Given the description of an element on the screen output the (x, y) to click on. 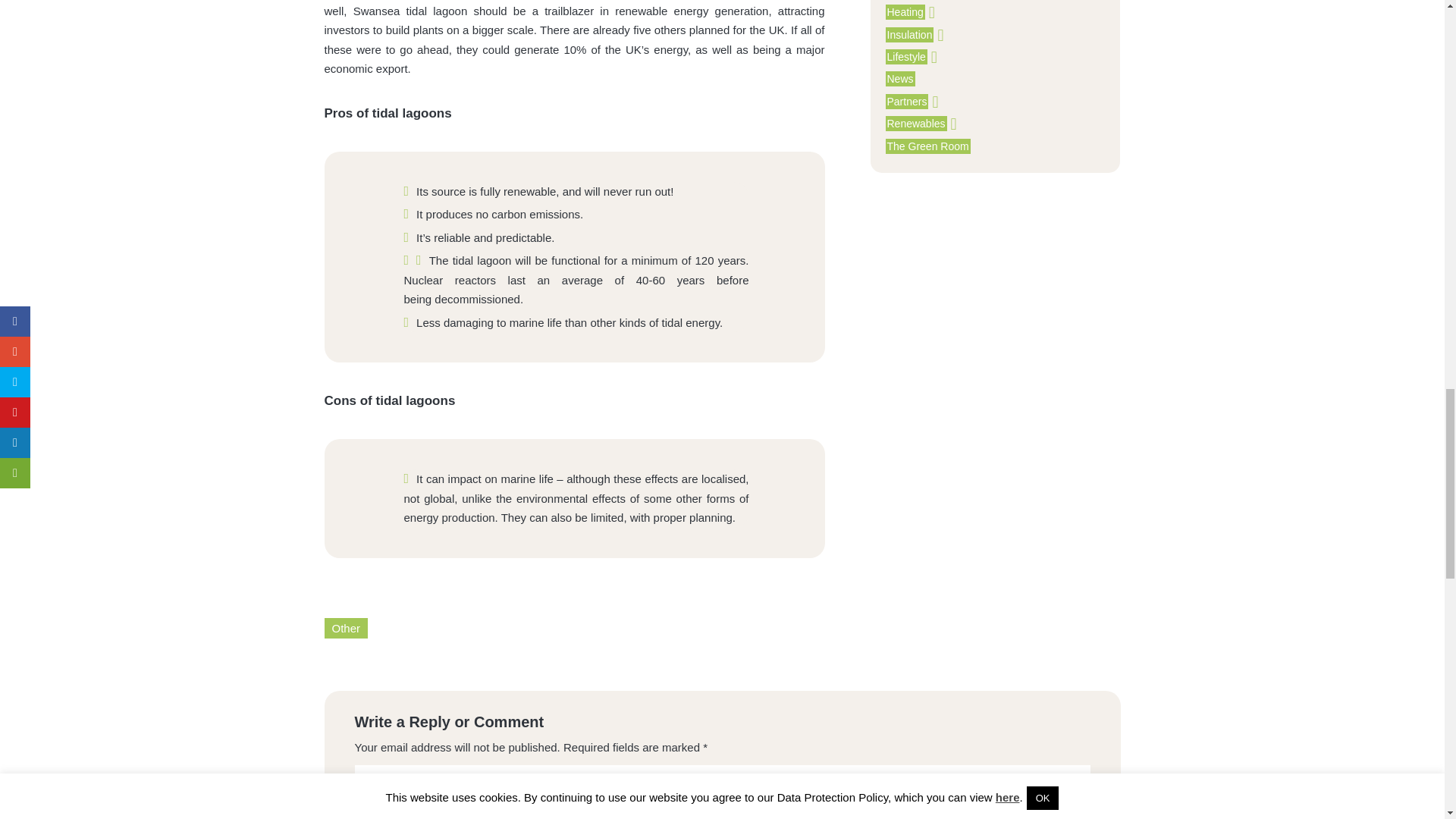
Other (346, 628)
Other (346, 628)
